Given the description of an element on the screen output the (x, y) to click on. 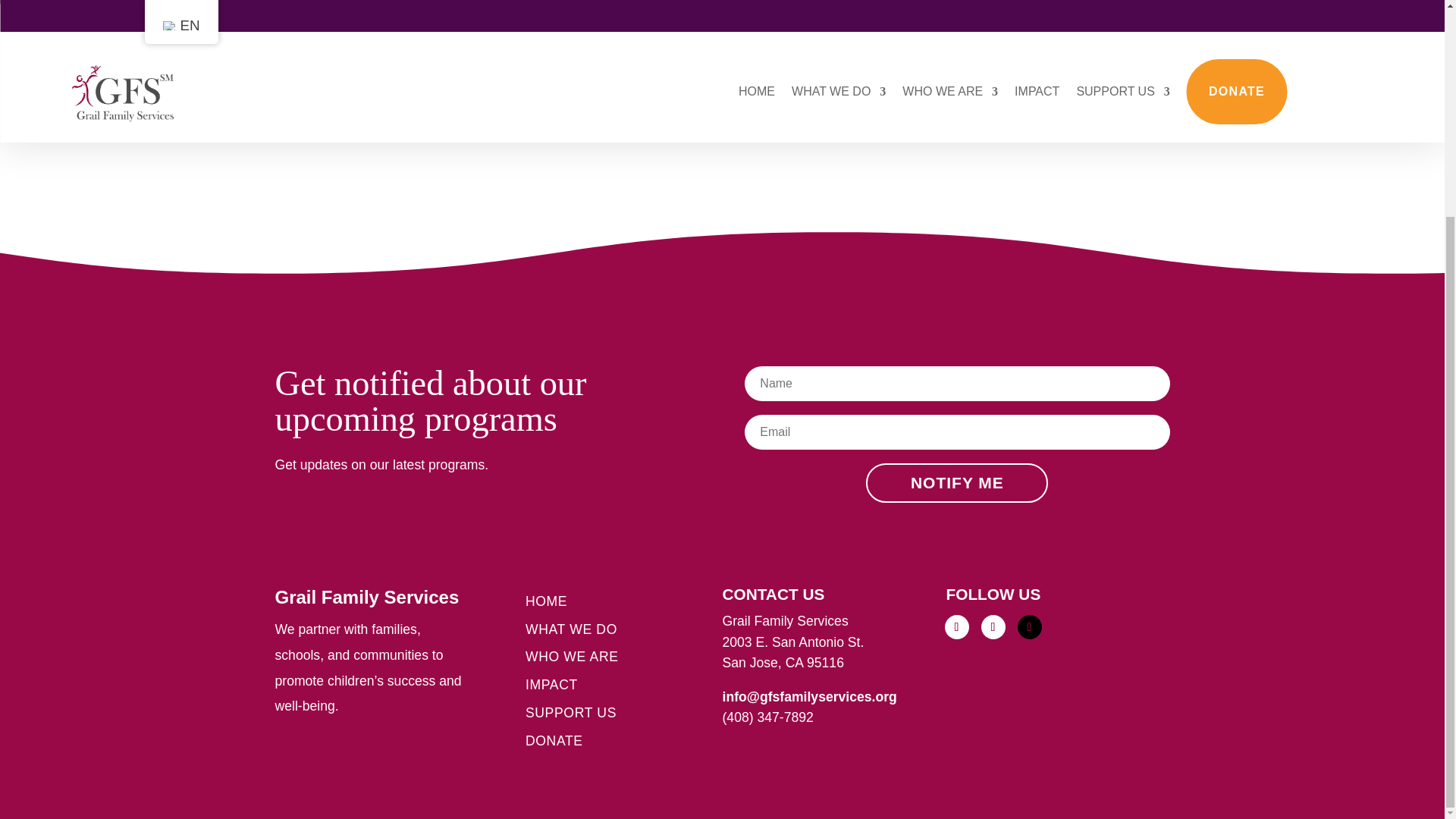
IMPACT (551, 685)
HOME (546, 601)
Follow on Facebook (956, 627)
WHAT WE DO (571, 629)
NOTIFY ME (957, 482)
DONATE (554, 741)
Follow on X (1029, 627)
SUPPORT US (570, 712)
WHO WE ARE (571, 657)
Follow on LinkedIn (993, 627)
